Given the description of an element on the screen output the (x, y) to click on. 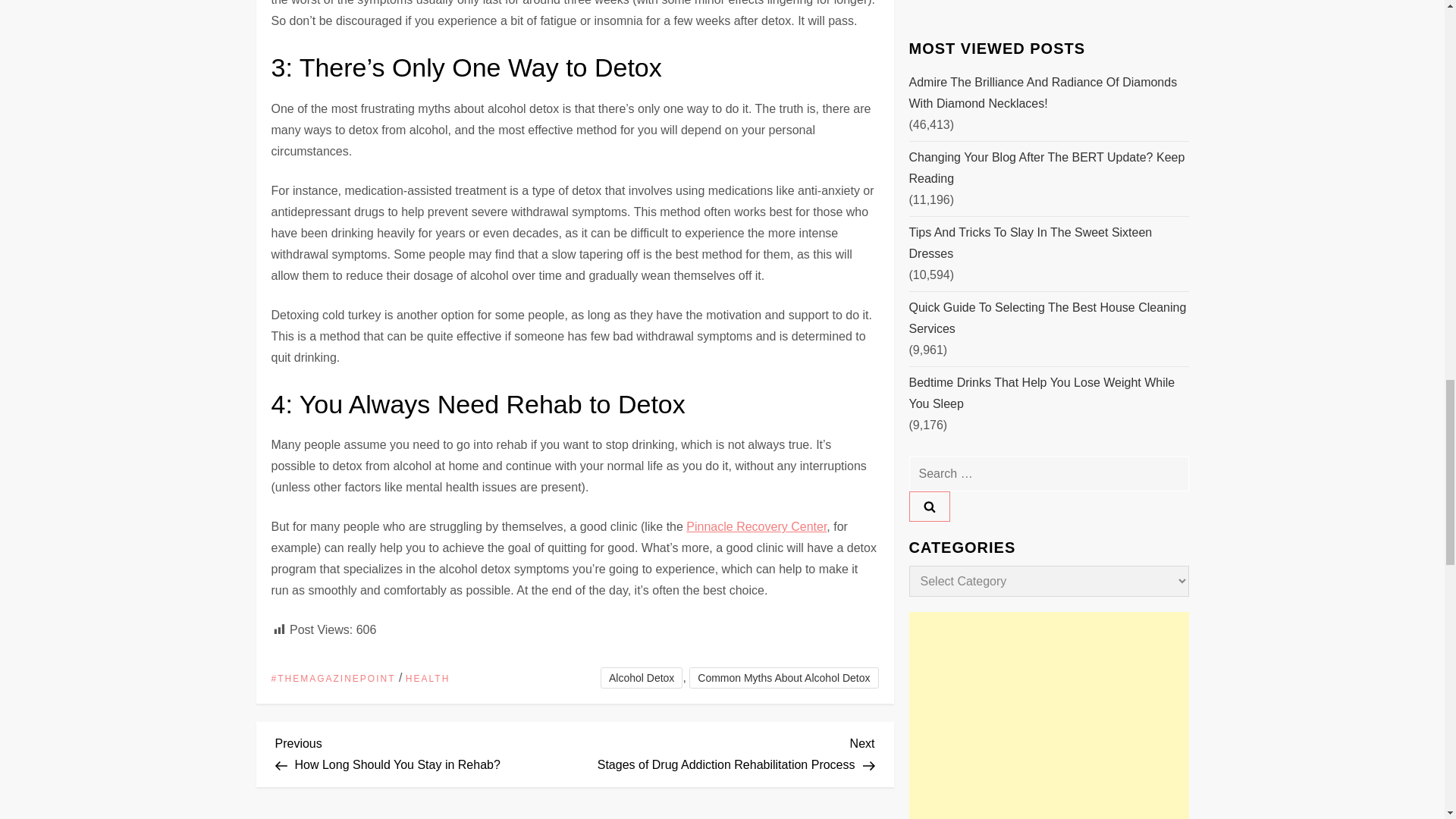
Pinnacle Recovery Center (425, 752)
HEALTH (756, 526)
Common Myths About Alcohol Detox (427, 679)
Alcohol Detox (782, 677)
